Given the description of an element on the screen output the (x, y) to click on. 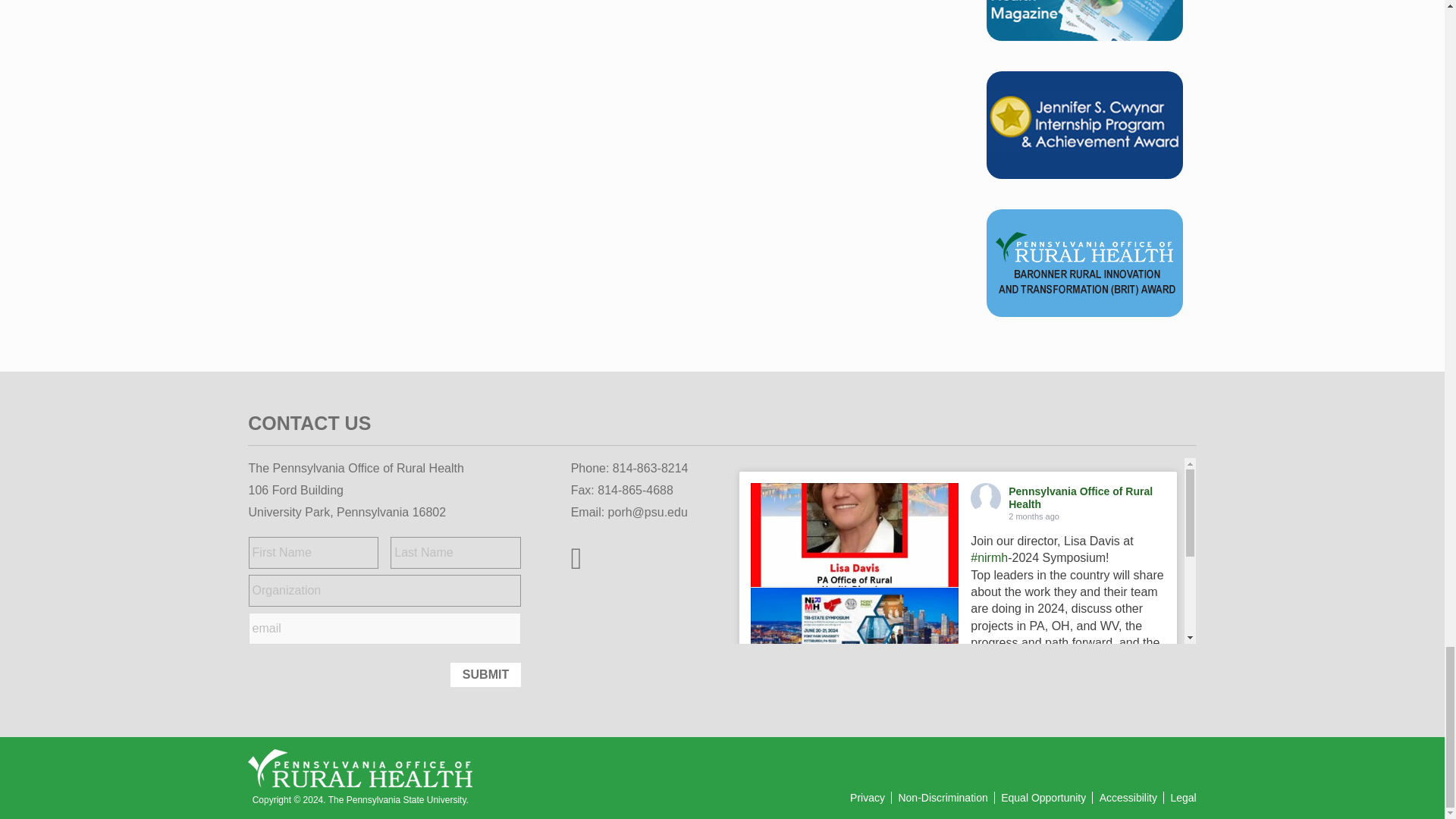
View on Facebook (1096, 758)
Share (1154, 758)
Submit (485, 674)
